Given the description of an element on the screen output the (x, y) to click on. 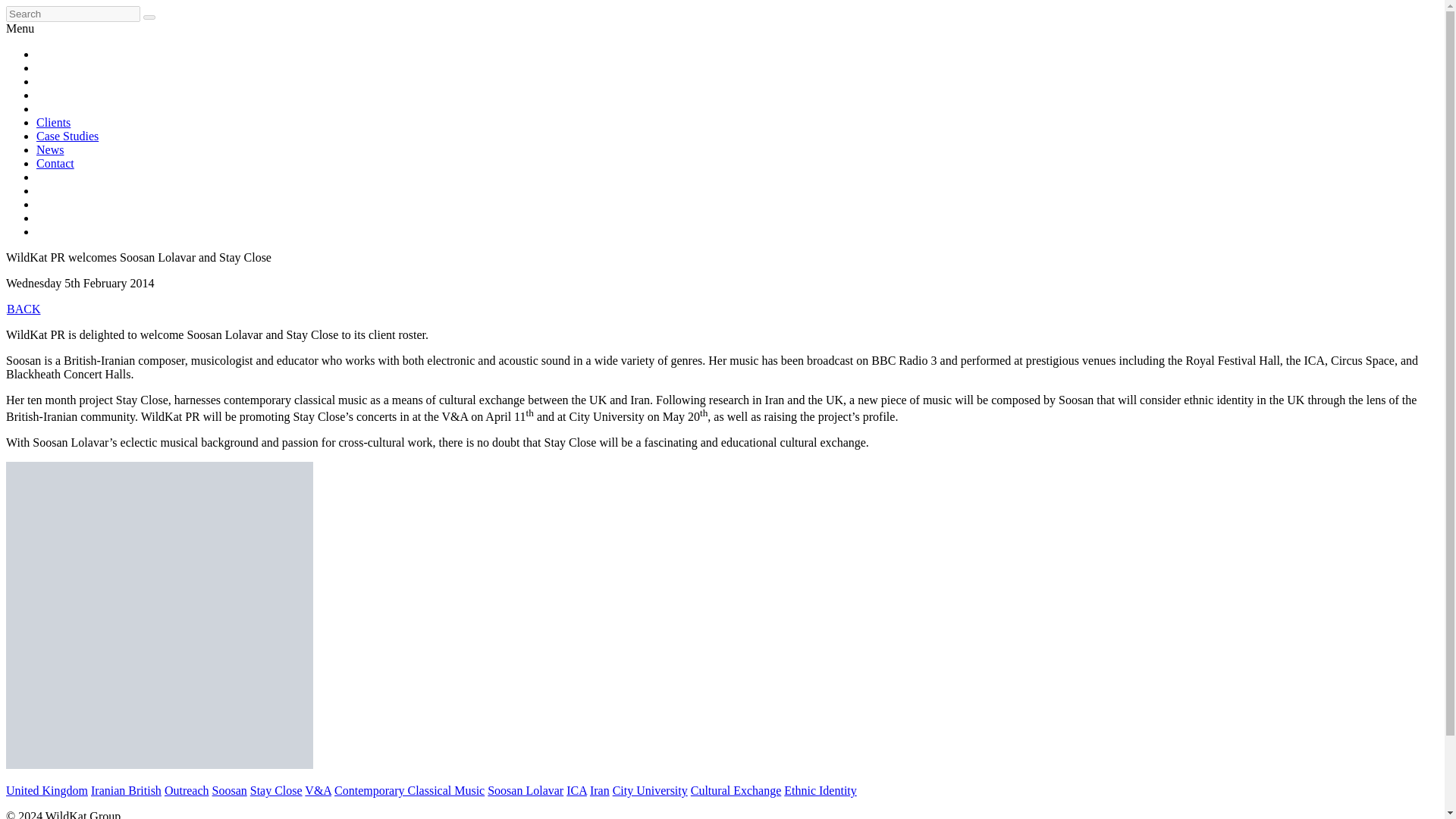
BACK (22, 308)
United Kingdom (46, 789)
Ethnic Identity (820, 789)
Cultural Exchange (735, 789)
ICA (576, 789)
News (50, 149)
Contemporary Classical Music (409, 789)
Outreach (186, 789)
Soosan Lolavar (525, 789)
Stay Close (276, 789)
